Given the description of an element on the screen output the (x, y) to click on. 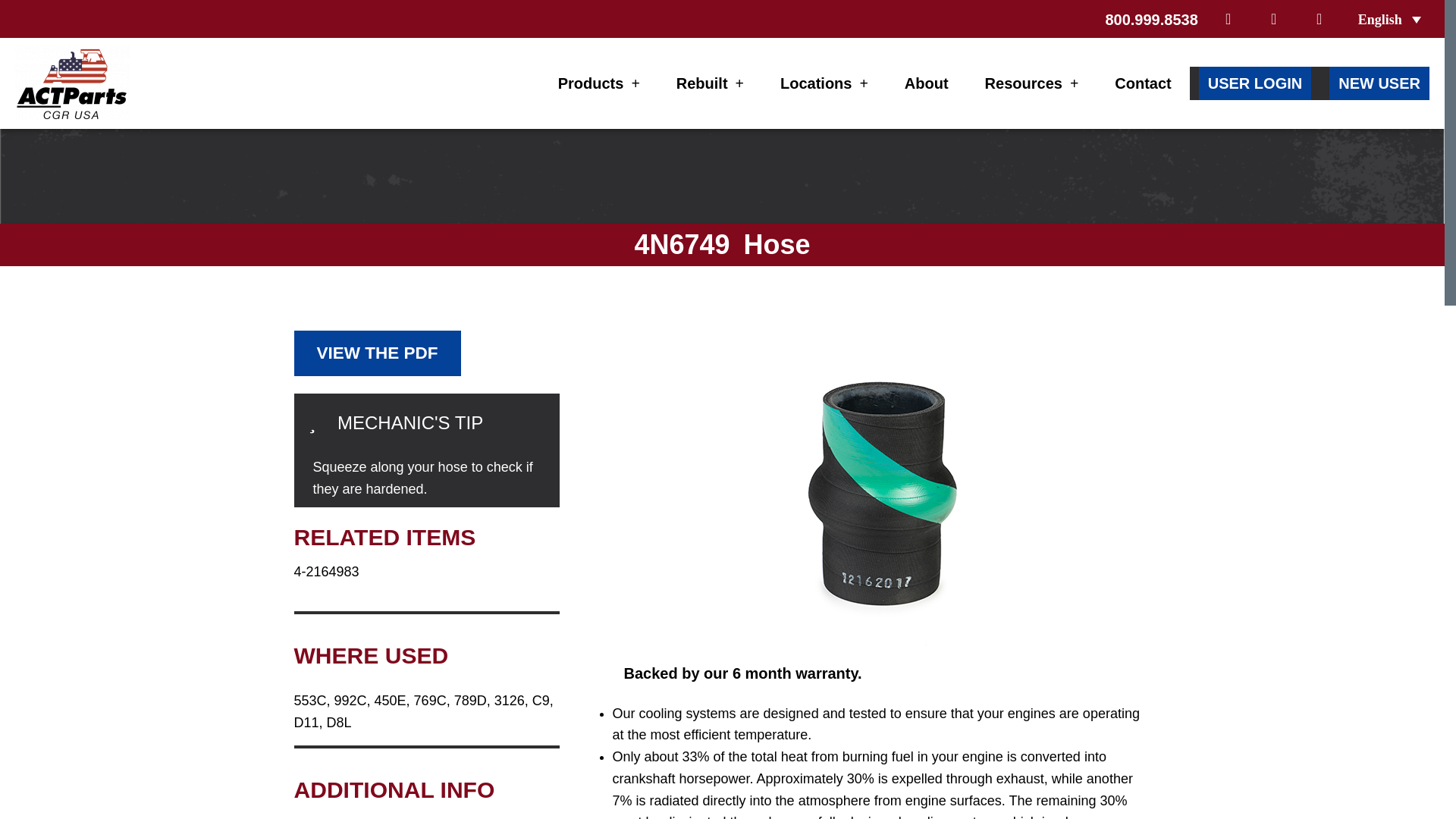
Rebuilt (709, 82)
Resources (1031, 82)
Locations (824, 82)
ACTParts CGR USA Logo (71, 83)
About (926, 82)
English (1389, 18)
Products (598, 82)
800.999.8538 (1150, 19)
